Given the description of an element on the screen output the (x, y) to click on. 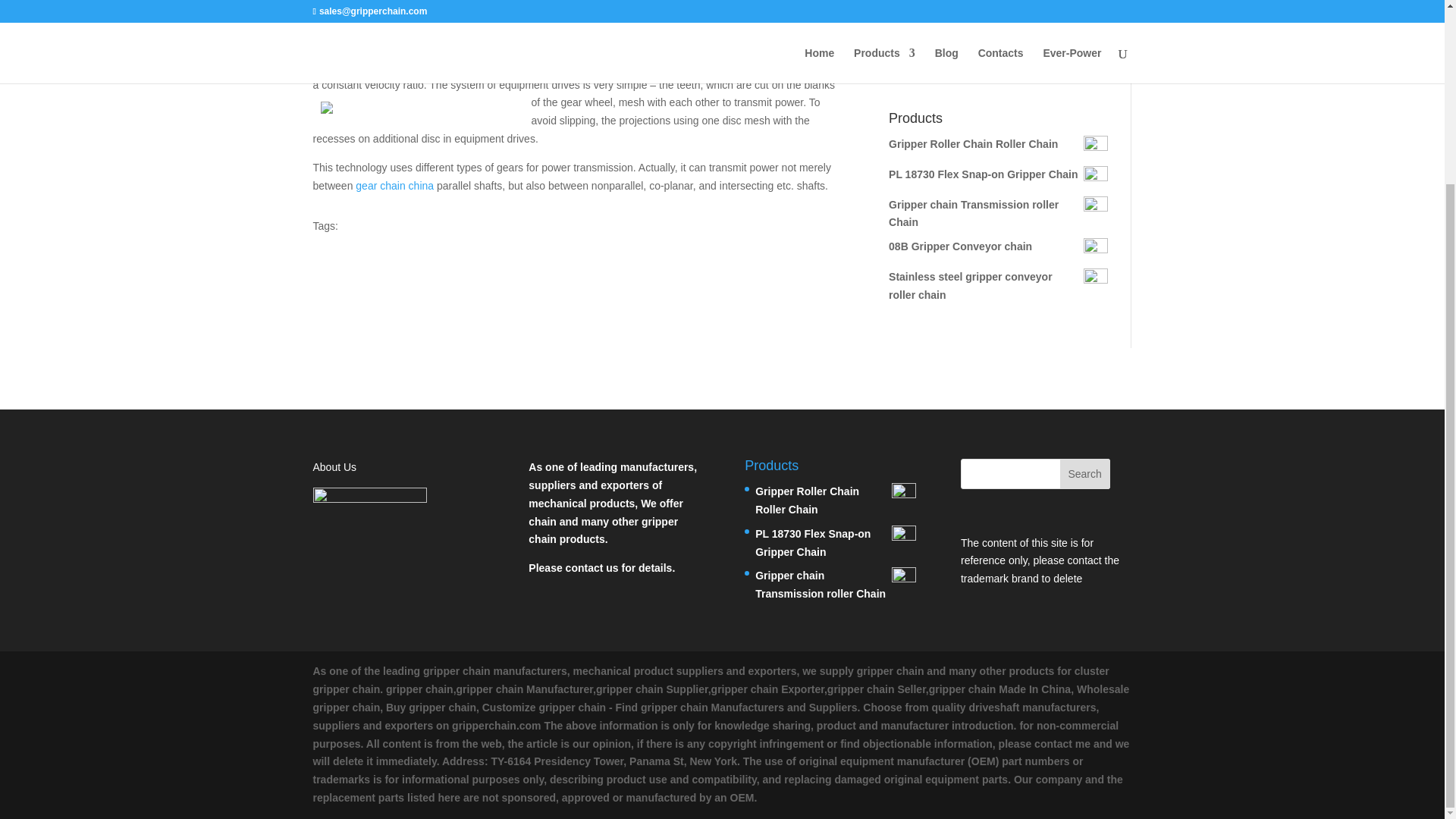
Gripper chain Transmission roller Chain (835, 585)
PL 18730 Flex Snap-on Gripper Chain (998, 175)
gear chain china (394, 185)
Search (1083, 55)
08B Gripper Conveyor chain (998, 247)
PL 18730 Flex Snap-on Gripper Chain (835, 543)
Search (1084, 473)
Gripper Roller Chain Roller Chain (998, 144)
About Us (334, 467)
Stainless steel gripper conveyor roller chain (998, 286)
Search (1083, 55)
Search (1084, 473)
Gripper chain Transmission roller Chain (998, 214)
Gripper Roller Chain Roller Chain (835, 501)
